Given the description of an element on the screen output the (x, y) to click on. 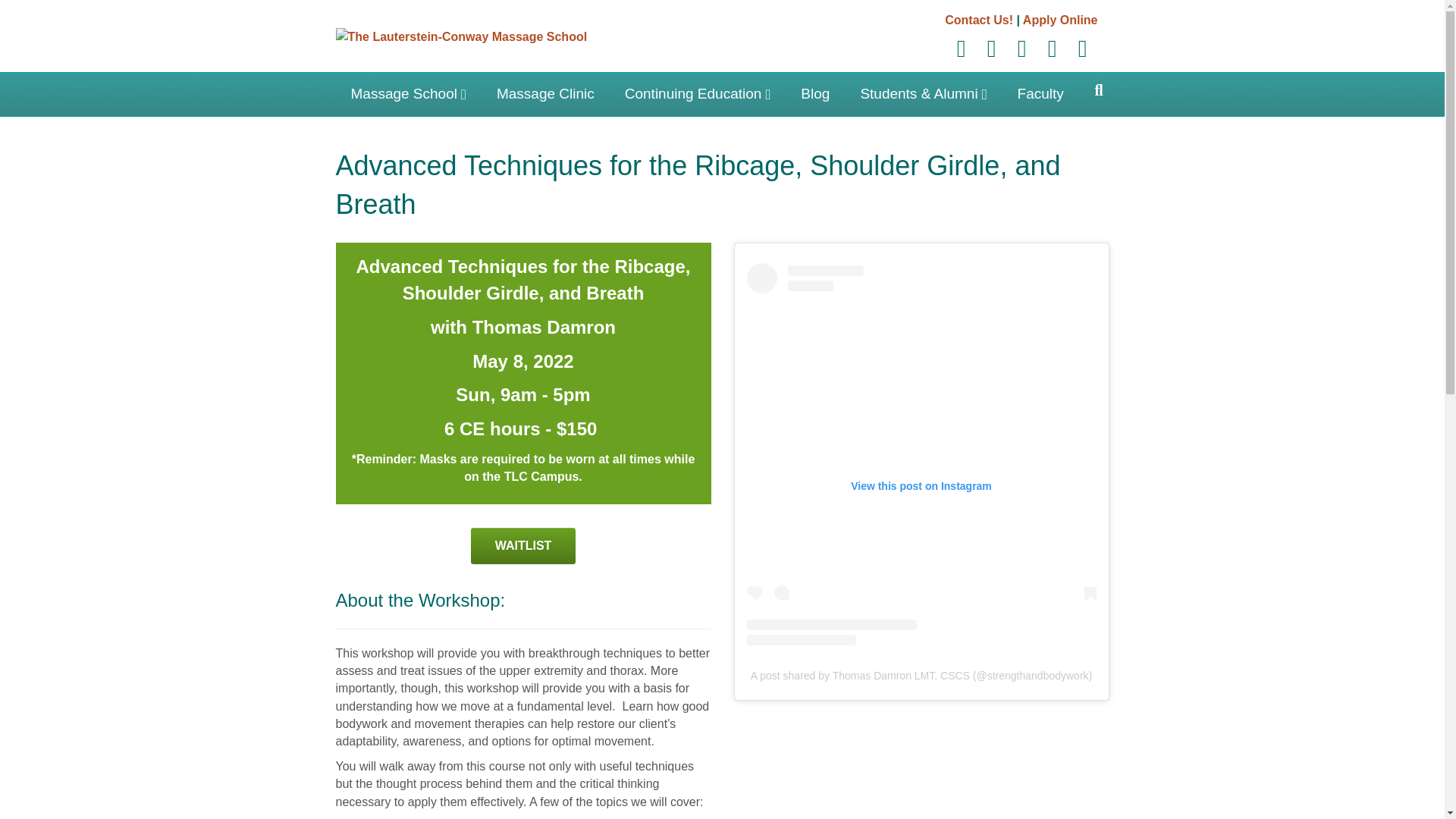
Blog (815, 94)
Instagram (1051, 48)
Massage School (407, 94)
Facebook (961, 48)
Linkedin (991, 48)
Continuing Education (698, 94)
Apply Online (1060, 19)
Contact Us! (978, 19)
Youtube (1021, 48)
Email (1082, 48)
